Given the description of an element on the screen output the (x, y) to click on. 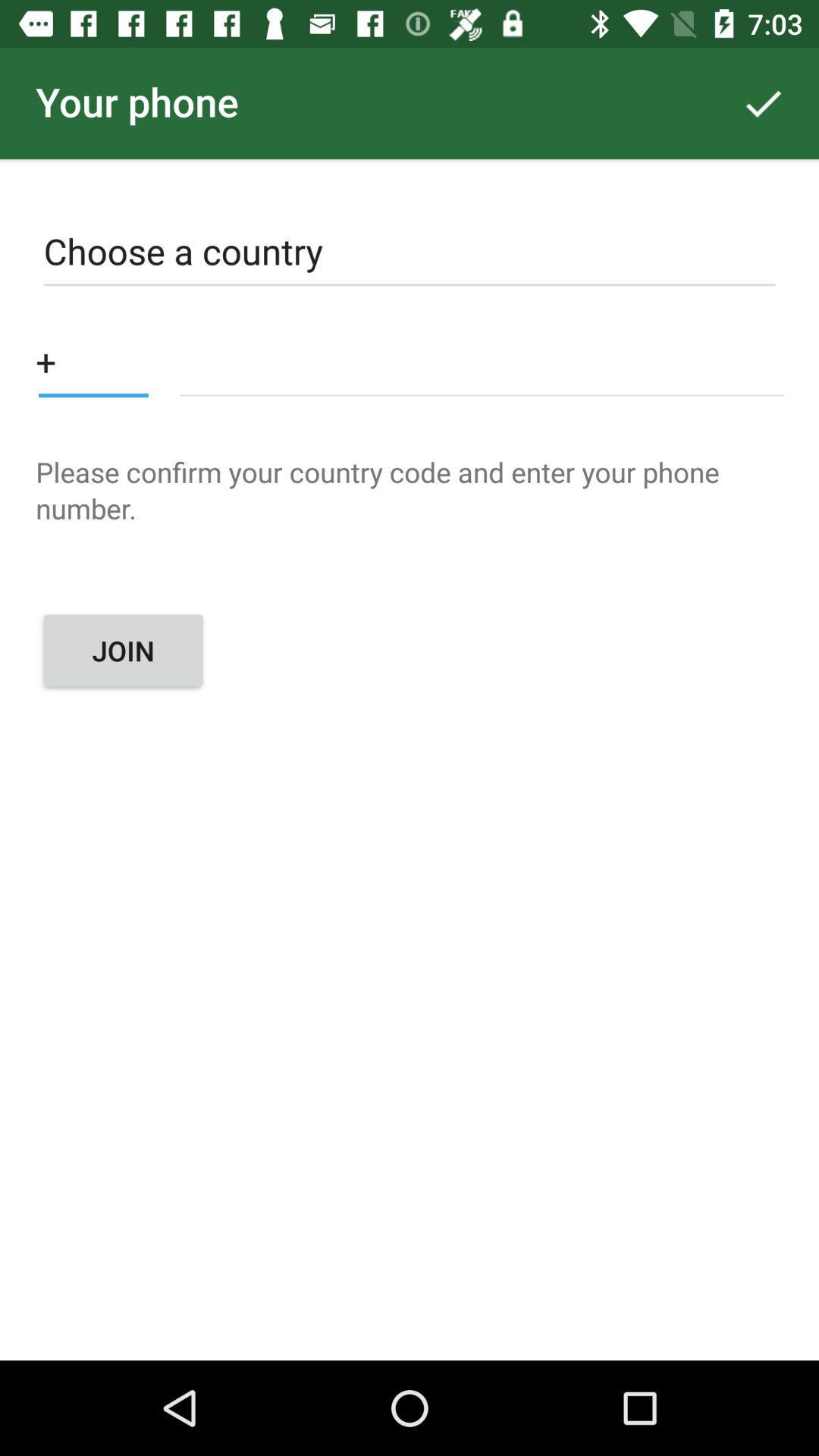
phone number (481, 361)
